Given the description of an element on the screen output the (x, y) to click on. 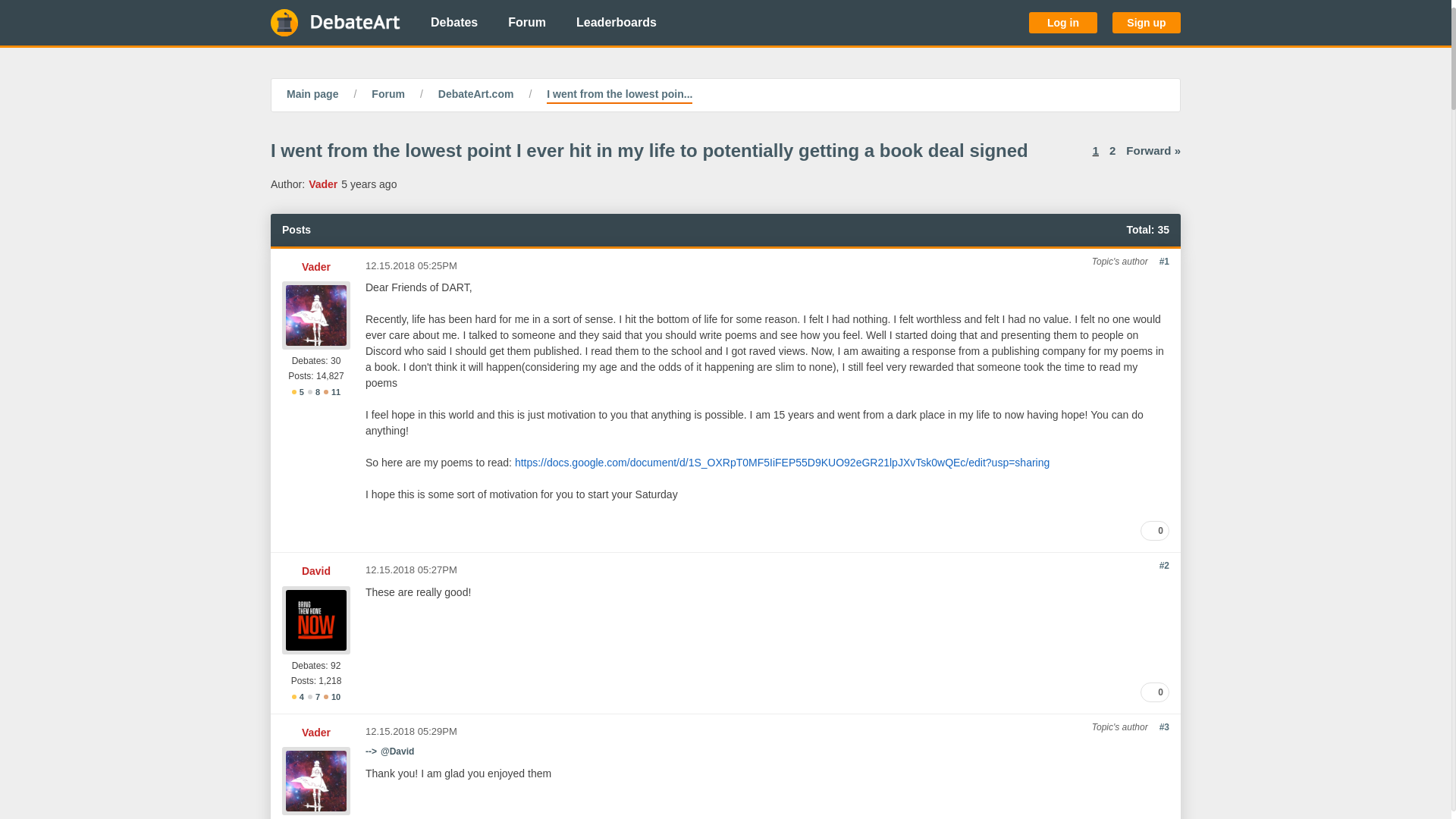
DebateArt.com (475, 95)
0 (1154, 691)
Vader (322, 183)
Debates (453, 22)
Vader (315, 732)
Go to main page (335, 22)
Main page (311, 95)
Forum (526, 22)
